Given the description of an element on the screen output the (x, y) to click on. 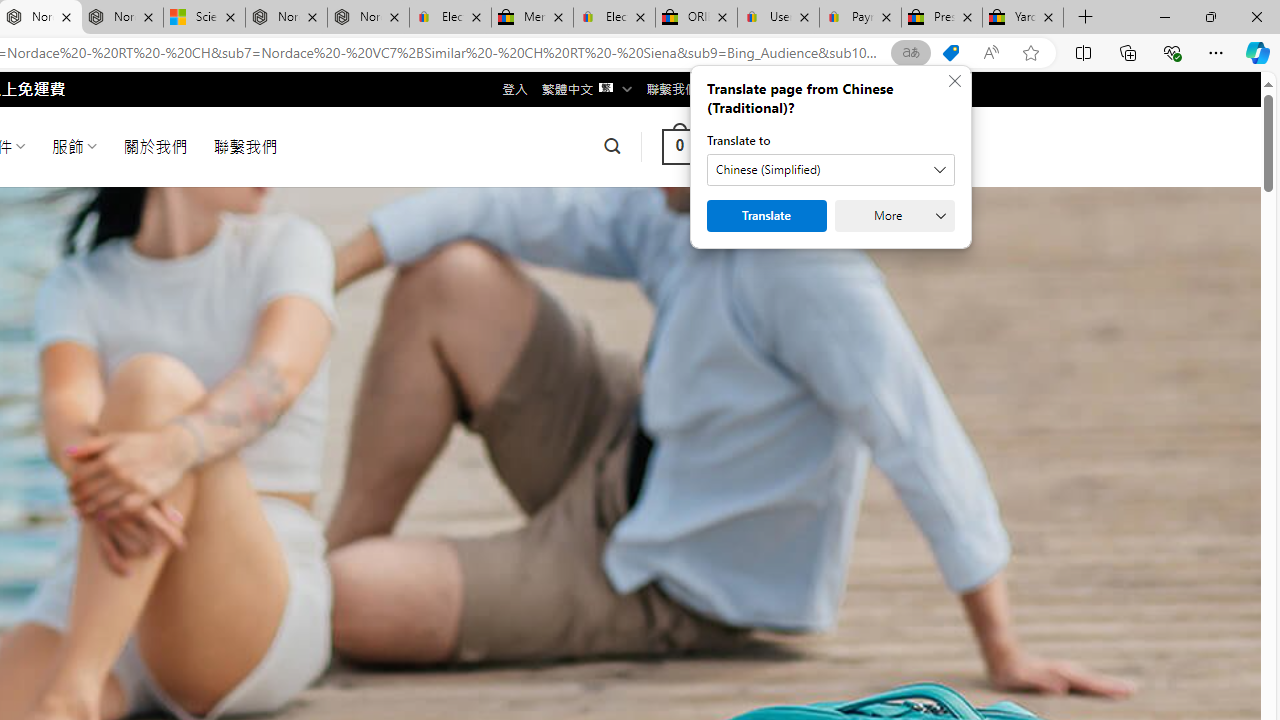
Yard, Garden & Outdoor Living (1023, 17)
Translate (766, 215)
This site has coupons! Shopping in Microsoft Edge (950, 53)
Browser essentials (1171, 52)
User Privacy Notice | eBay (778, 17)
Add this page to favorites (Ctrl+D) (1030, 53)
Collections (1128, 52)
Settings and more (Alt+F) (1215, 52)
Minimize (1164, 16)
Payments Terms of Use | eBay.com (860, 17)
